Given the description of an element on the screen output the (x, y) to click on. 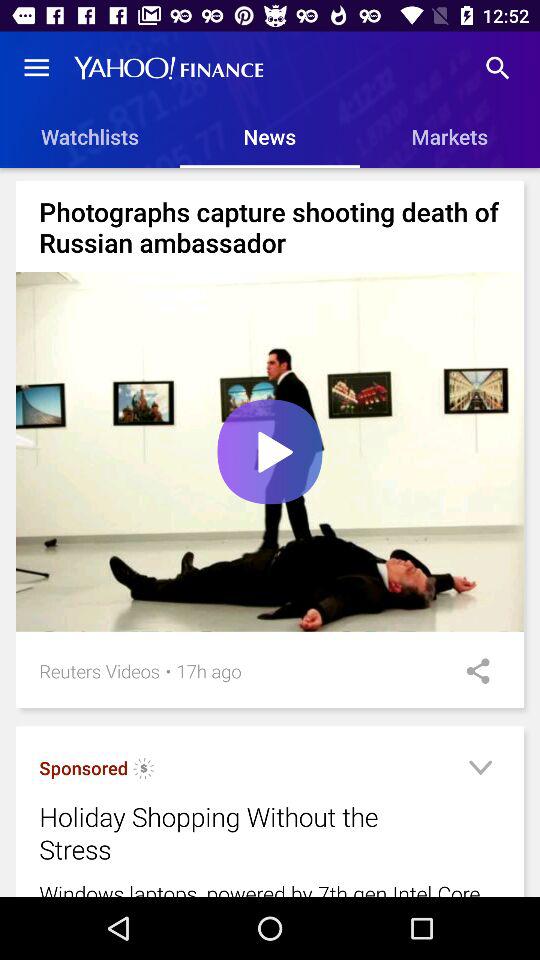
click the icon to the right of reuters videos (168, 670)
